Given the description of an element on the screen output the (x, y) to click on. 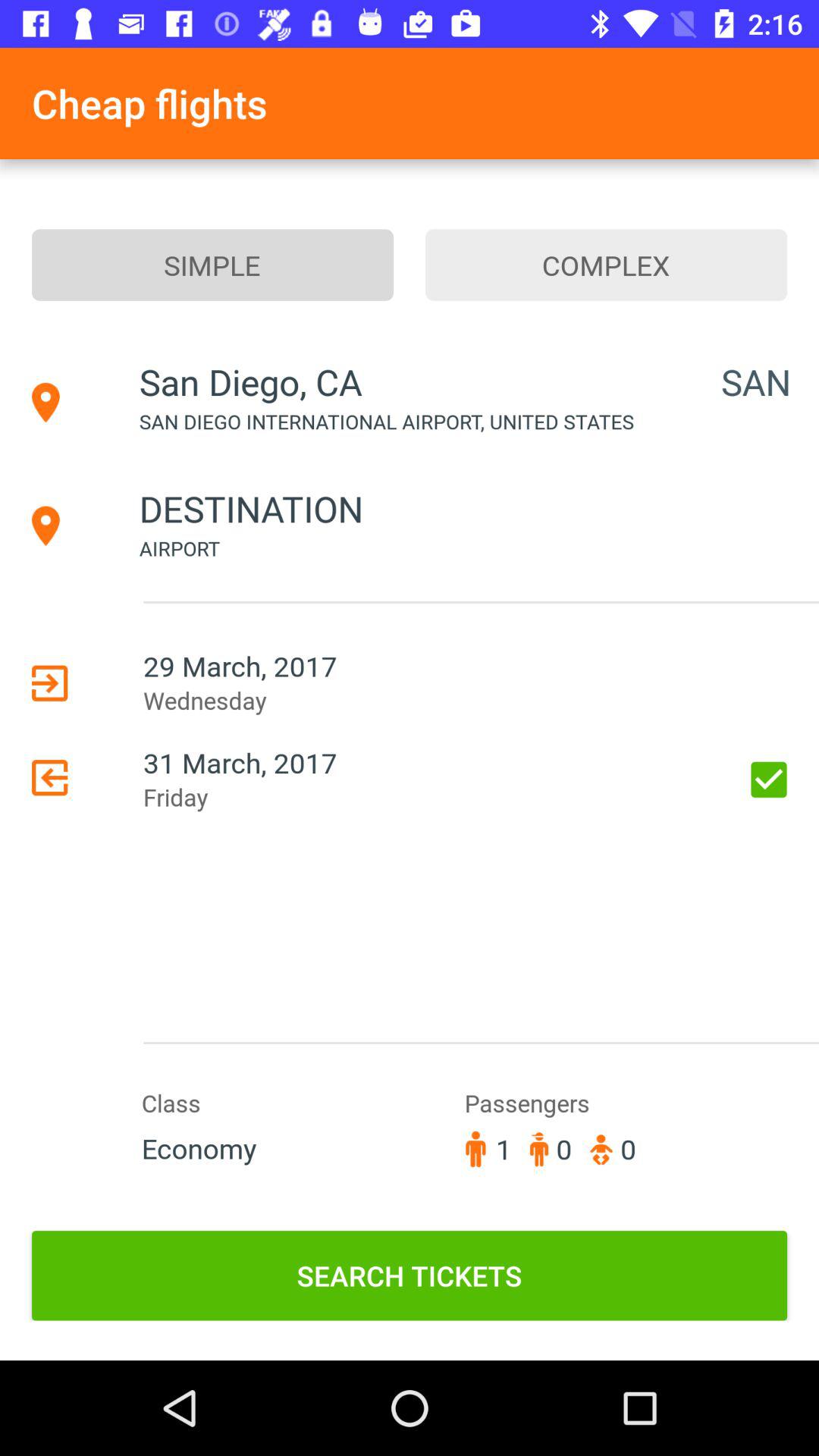
tap simple (212, 264)
